Given the description of an element on the screen output the (x, y) to click on. 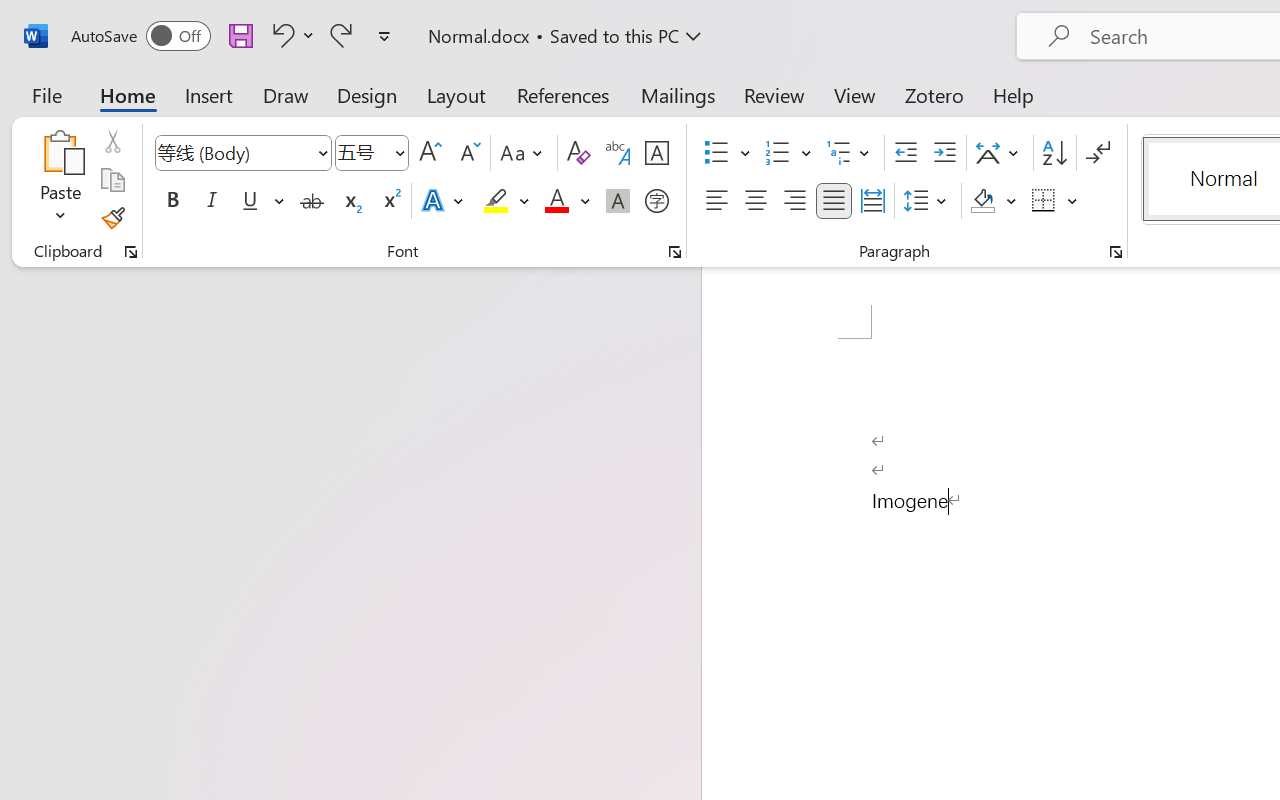
Asian Layout (1000, 153)
Change Case (524, 153)
Help (1013, 94)
Paragraph... (1115, 252)
Align Left (716, 201)
